Given the description of an element on the screen output the (x, y) to click on. 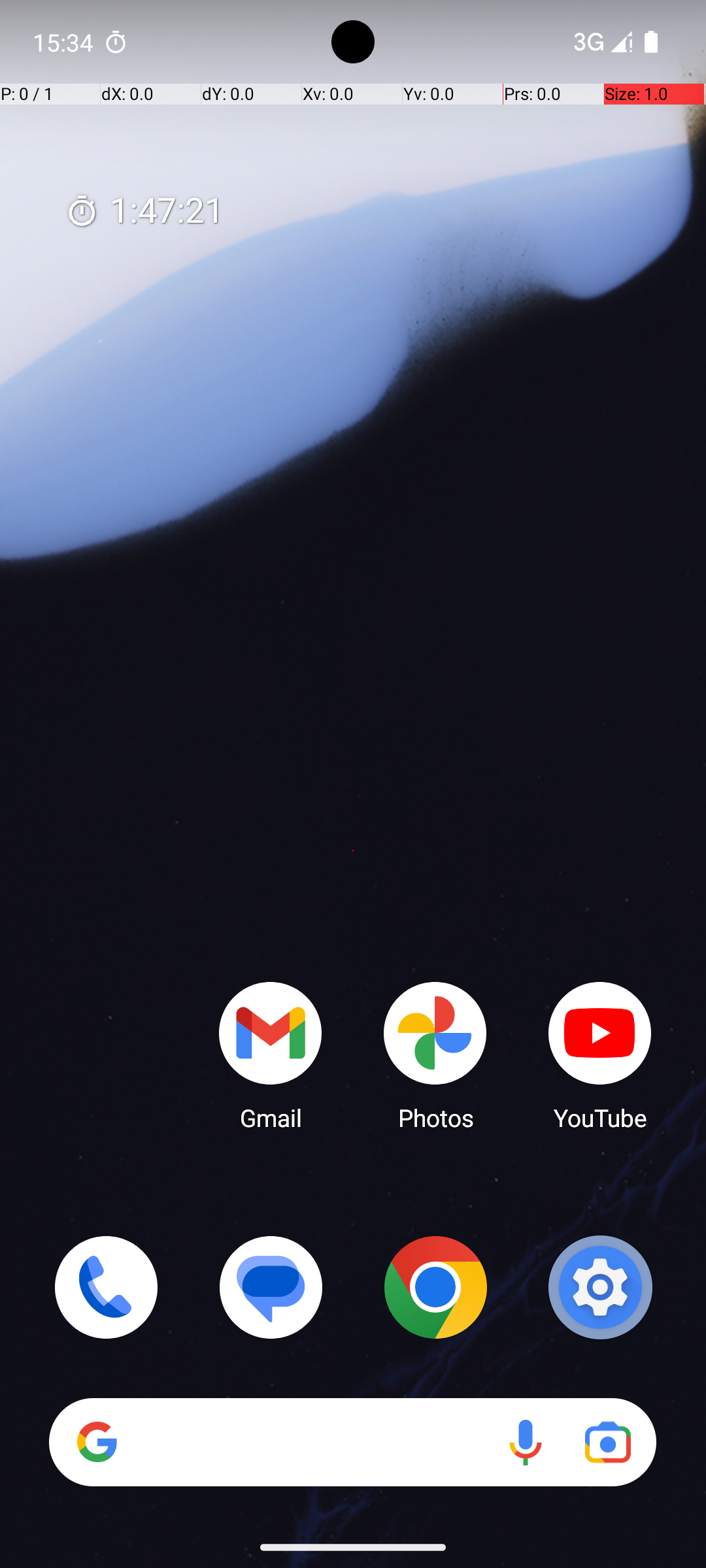
1:47:21 Element type: android.widget.TextView (144, 210)
